Given the description of an element on the screen output the (x, y) to click on. 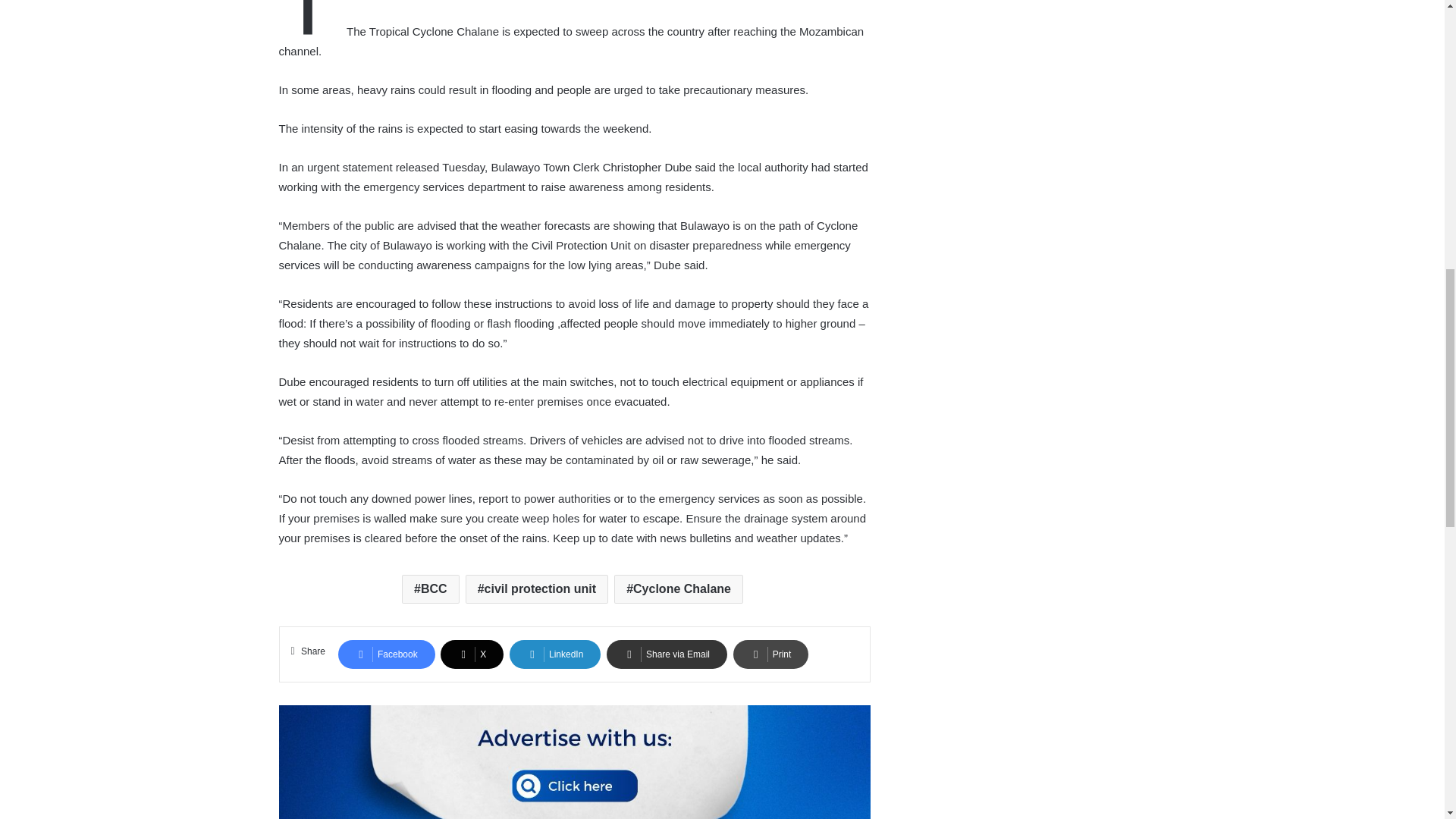
X (472, 654)
Facebook (386, 654)
LinkedIn (554, 654)
BCC (430, 588)
civil protection unit (536, 588)
